Given the description of an element on the screen output the (x, y) to click on. 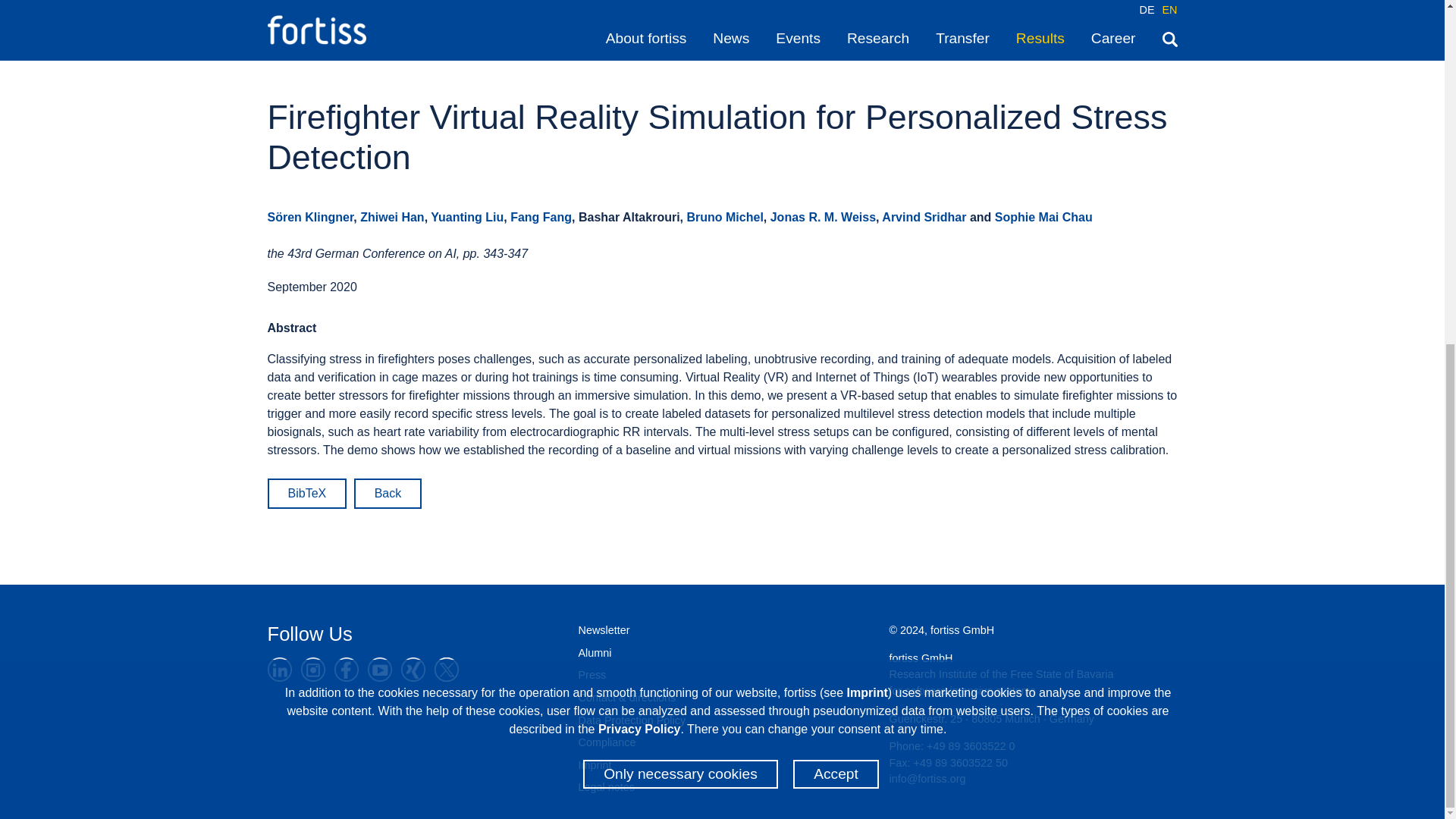
LinkedIn (278, 669)
YouTube (378, 669)
Xing (412, 669)
Facebook (345, 669)
Instagram (311, 669)
Twitter (445, 669)
